Given the description of an element on the screen output the (x, y) to click on. 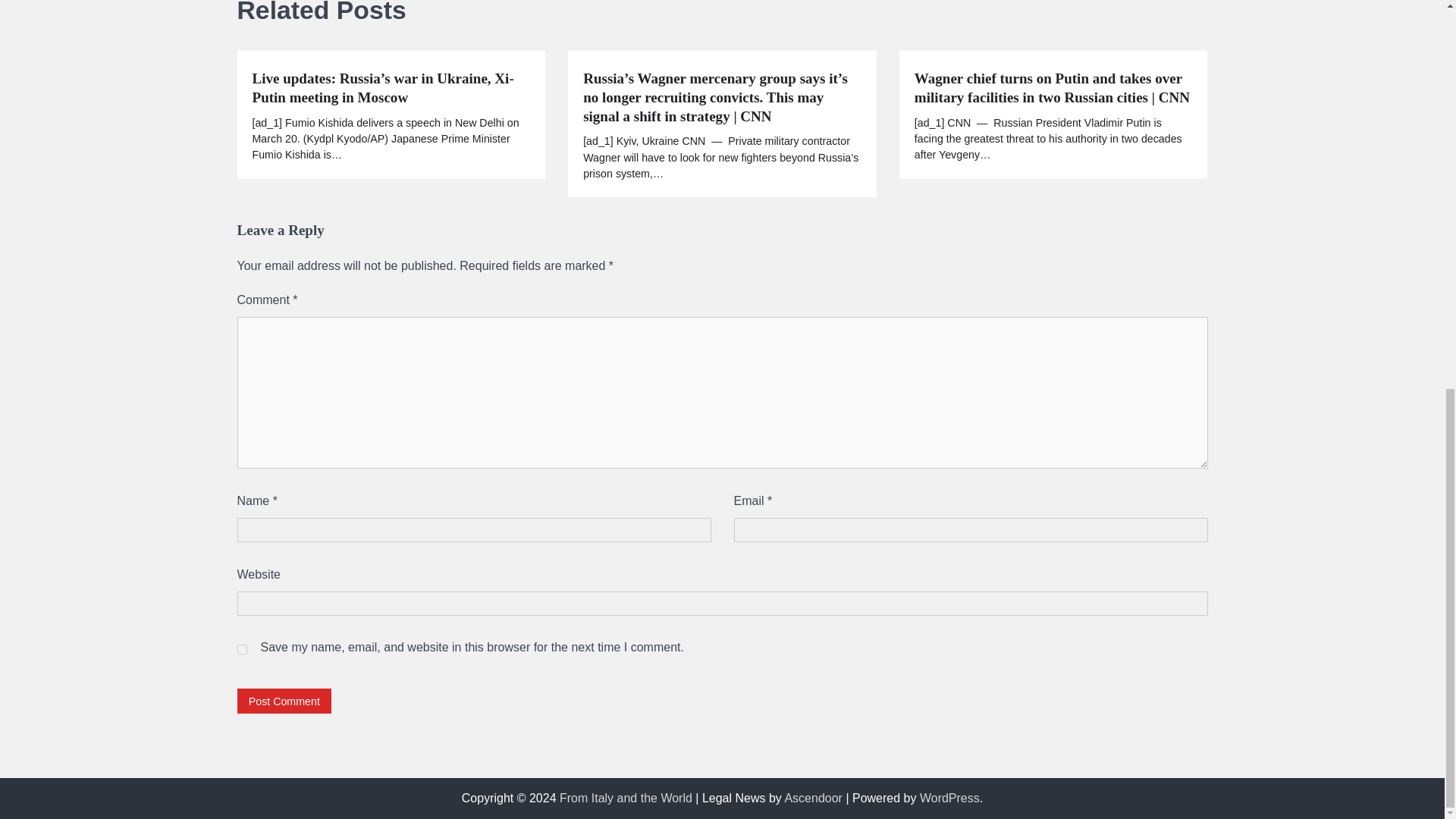
WordPress (949, 797)
Ascendoor (813, 797)
From Italy and the World (626, 797)
yes (240, 649)
Post Comment (283, 700)
Post Comment (283, 700)
